Given the description of an element on the screen output the (x, y) to click on. 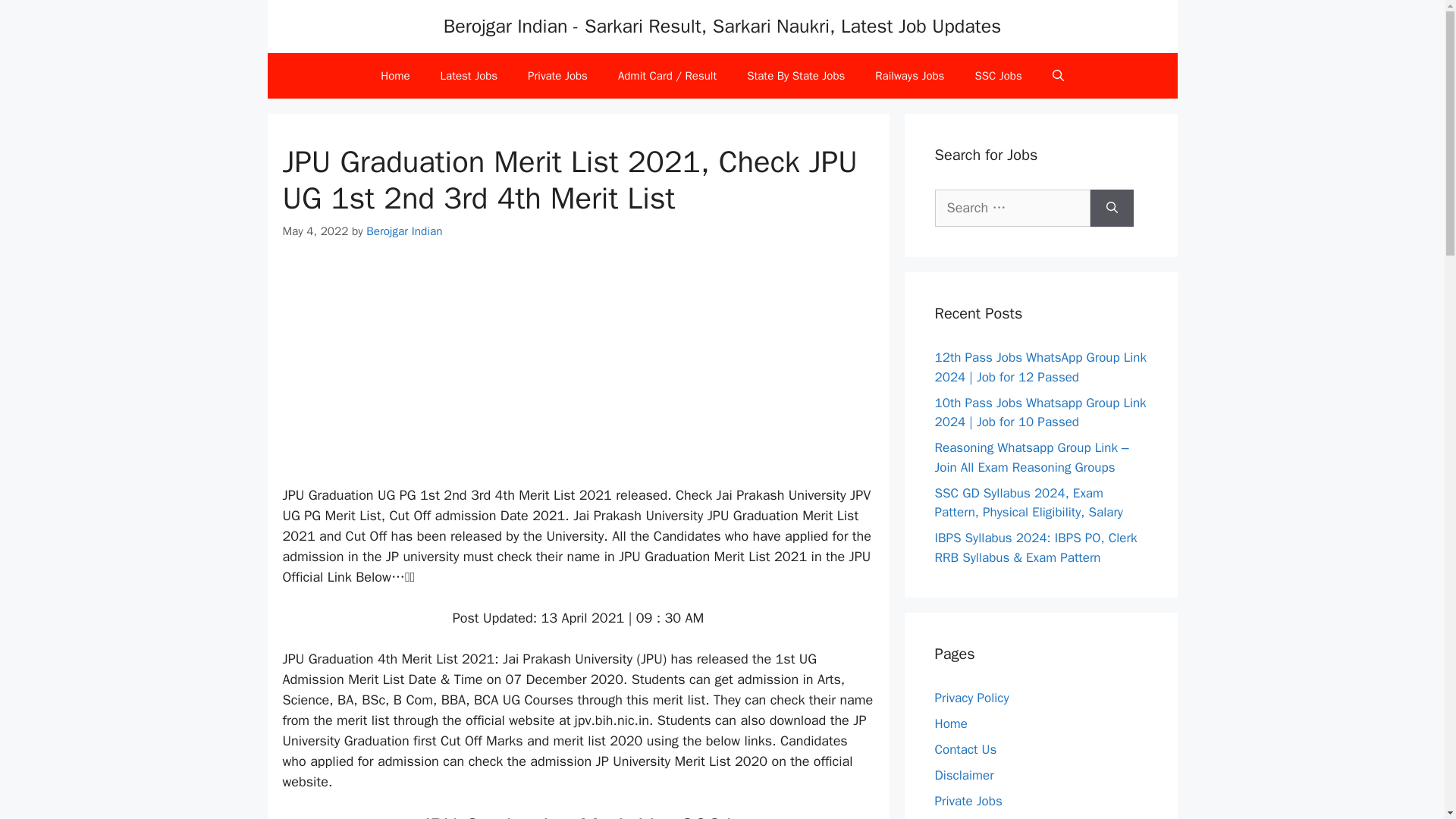
Latest Jobs (469, 75)
Railways Jobs (909, 75)
Contact Us (964, 749)
Home (950, 723)
Search for: (1011, 207)
State By State Jobs (796, 75)
Privacy Policy (971, 697)
View all posts by Berojgar Indian (404, 231)
Disclaimer (963, 774)
Private Jobs (967, 801)
Home (395, 75)
Berojgar Indian (404, 231)
SSC Jobs (997, 75)
Private Jobs (557, 75)
